Given the description of an element on the screen output the (x, y) to click on. 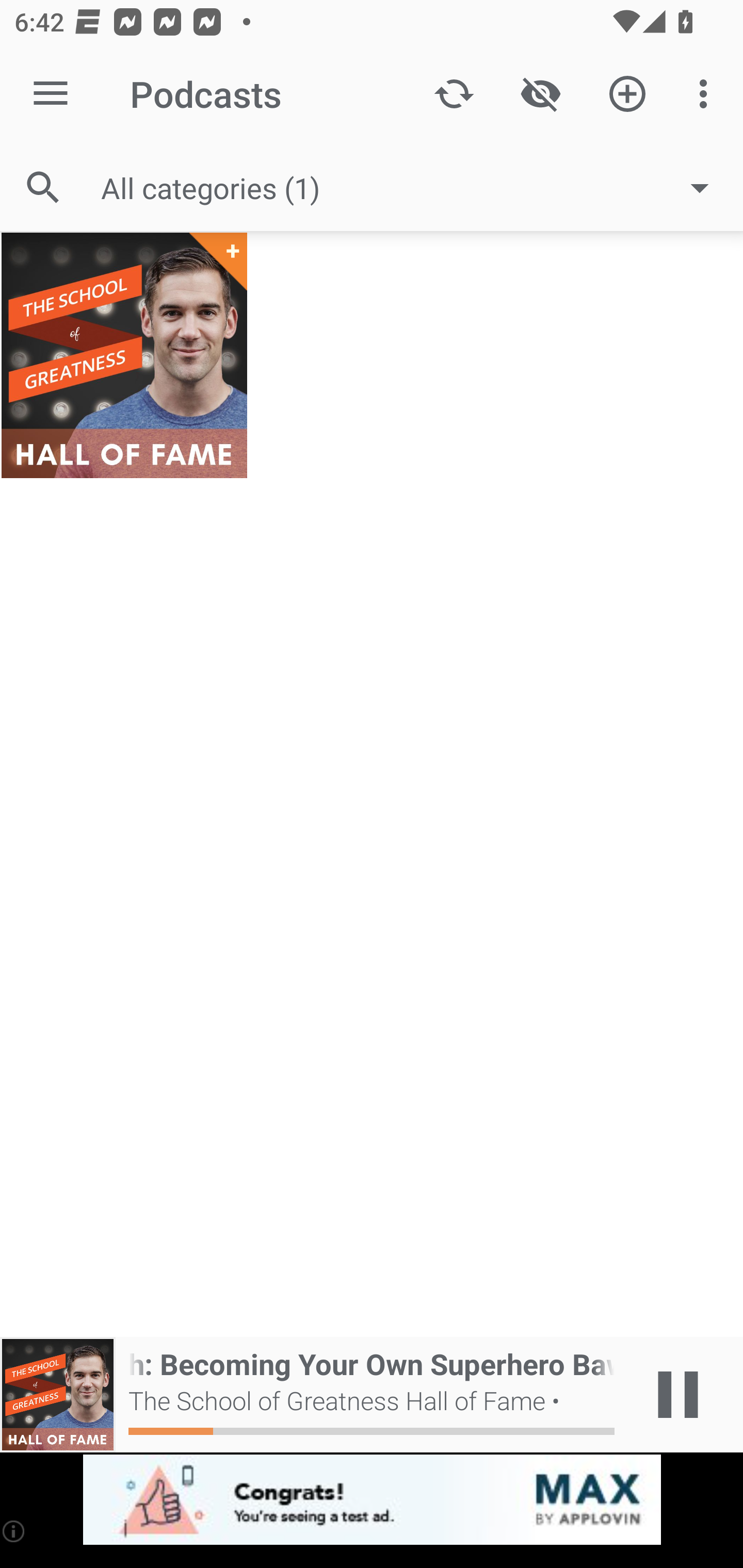
Open navigation sidebar (50, 93)
Update (453, 93)
Show / Hide played content (540, 93)
Add new Podcast (626, 93)
More options (706, 93)
Search (43, 187)
All categories (1) (414, 188)
The School of Greatness Hall of Fame + (124, 355)
Play / Pause (677, 1394)
app-monetization (371, 1500)
(i) (14, 1531)
